Given the description of an element on the screen output the (x, y) to click on. 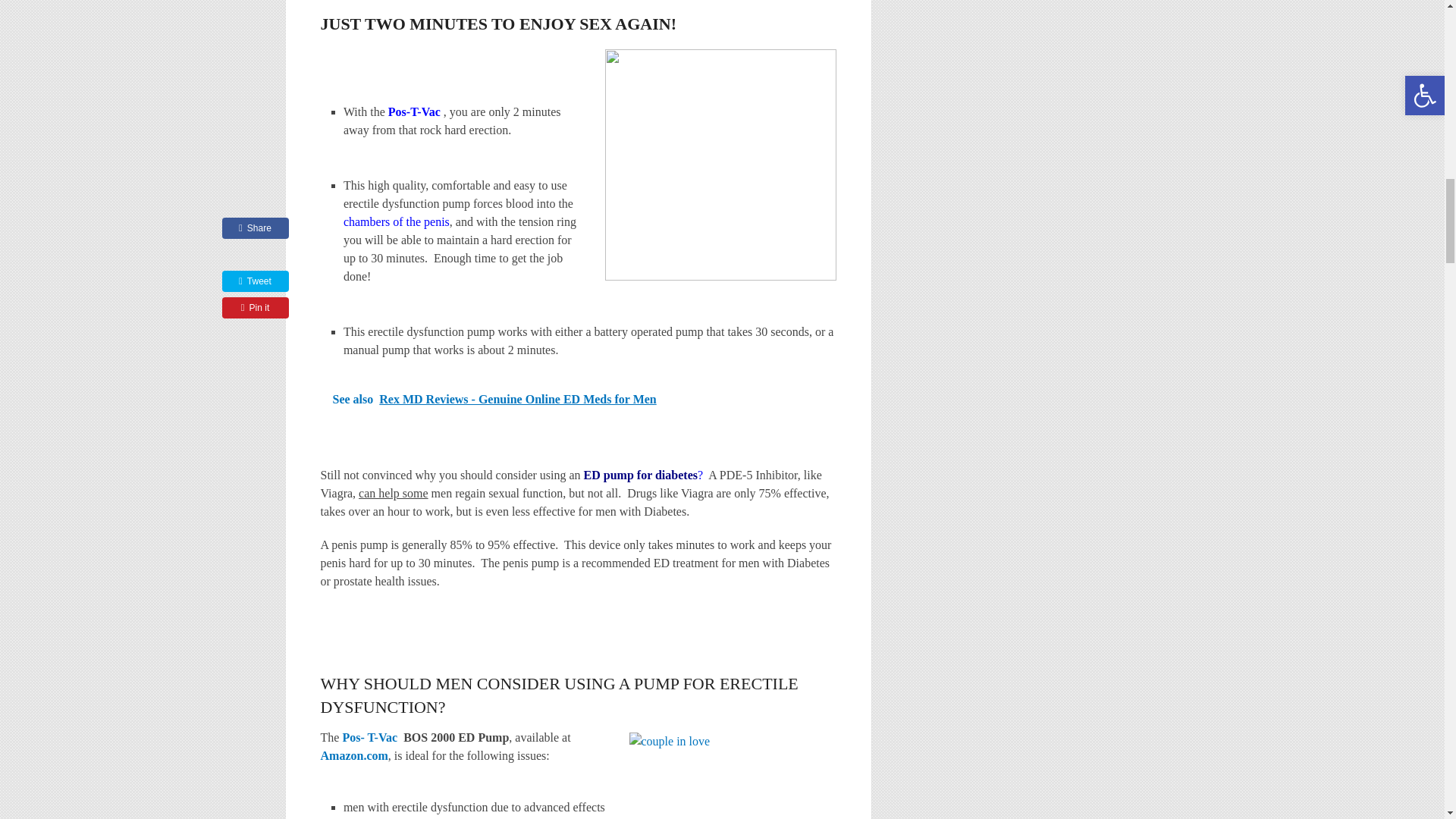
Pos- T-Vac  (371, 737)
ED pump for diabetes (640, 474)
Pos T Vac Bos2000-2 penis pump (371, 737)
Amazon.com (353, 755)
pos t vac (353, 755)
See also  Rex MD Reviews - Genuine Online ED Meds for Men (577, 399)
Pos-T-Vac (416, 111)
chambers of the penis (396, 221)
